Given the description of an element on the screen output the (x, y) to click on. 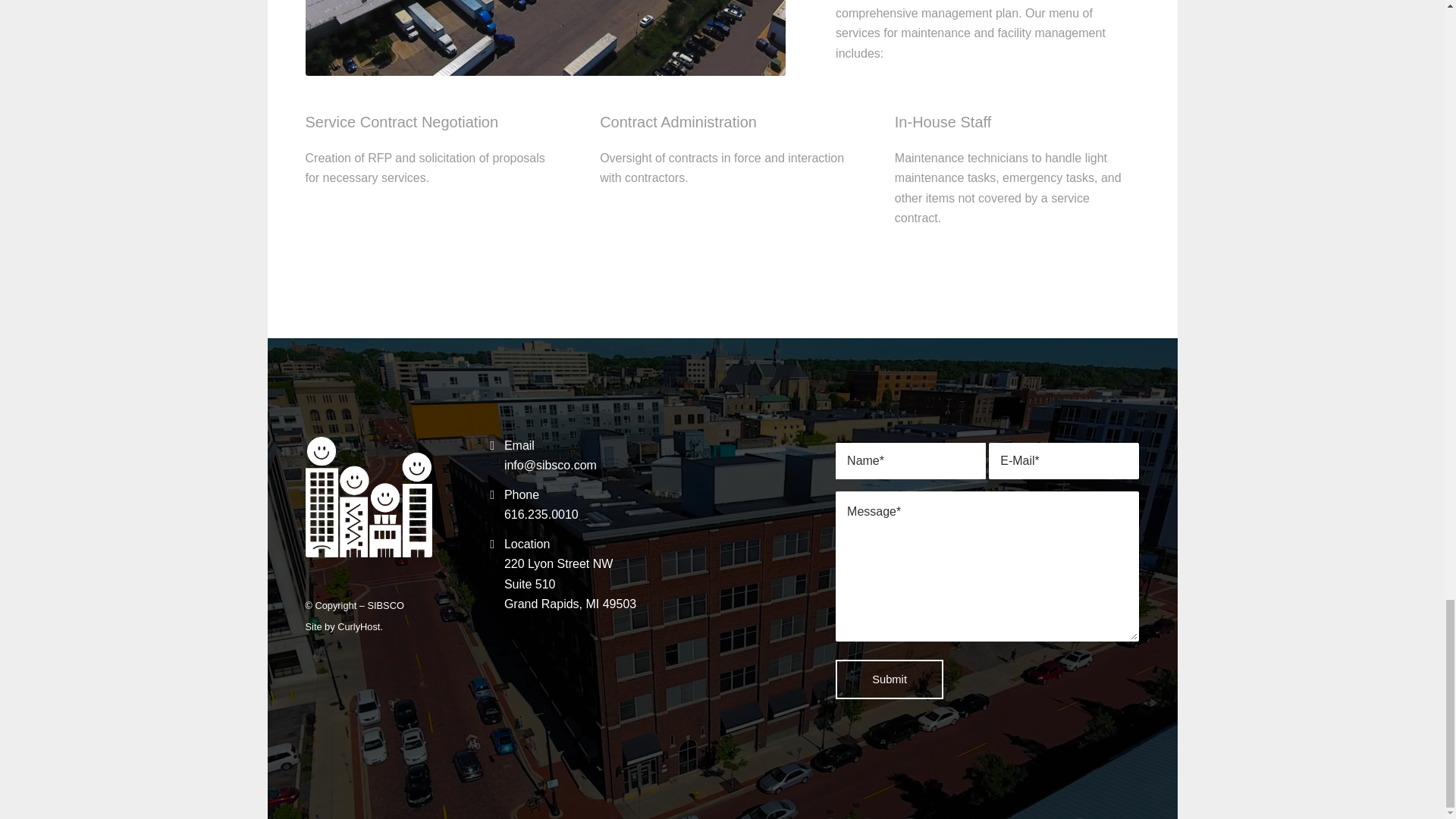
616.235.0010 (540, 513)
Elston-Richards-845x684 (569, 583)
Whitelogo-1030x982 (545, 38)
SIBSCO (367, 496)
Site by CurlyHost. (384, 604)
